Given the description of an element on the screen output the (x, y) to click on. 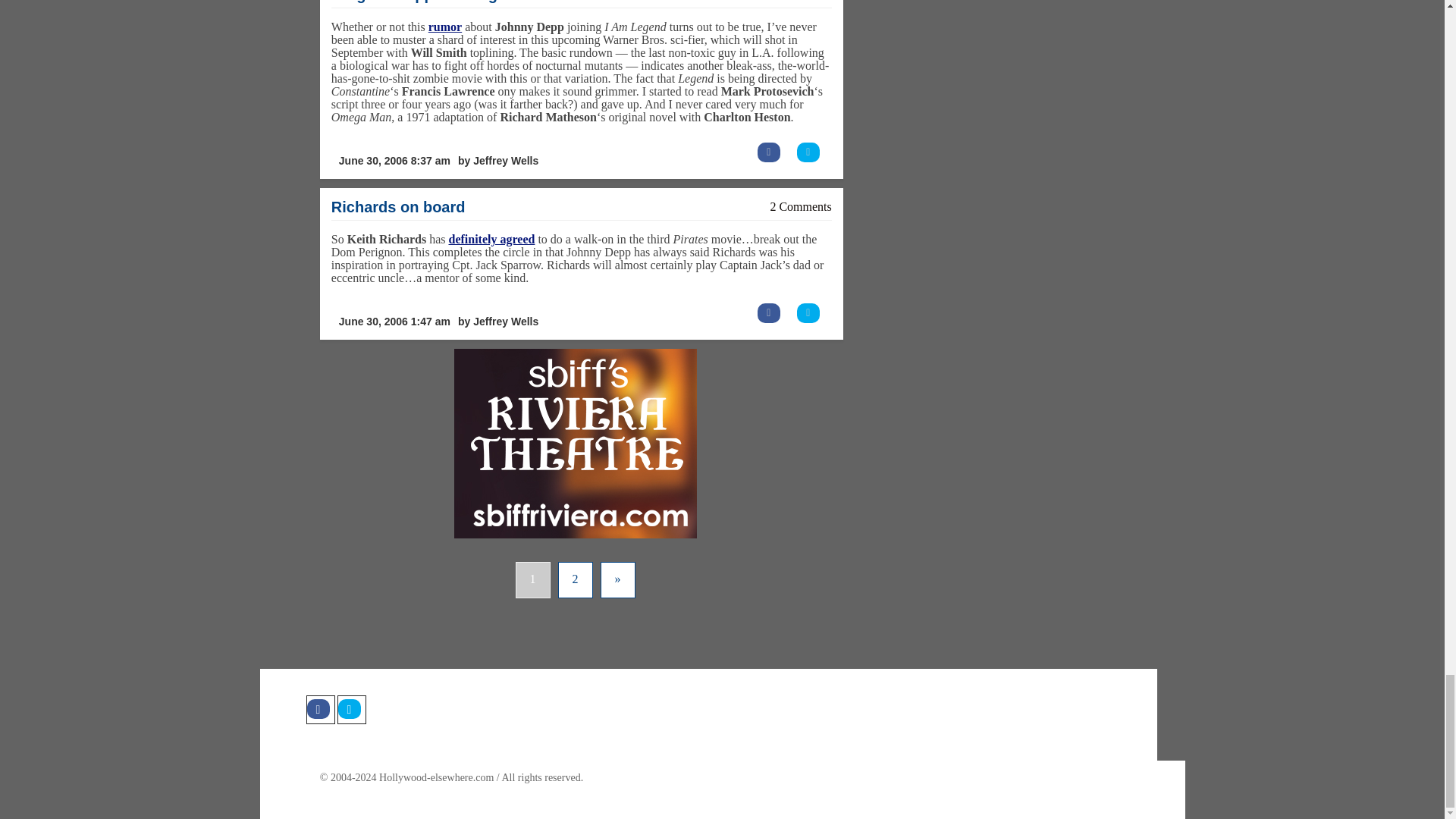
Facebook (319, 709)
Twitter (350, 709)
Permanent Link to Richards  on board (398, 207)
2 (574, 579)
